Given the description of an element on the screen output the (x, y) to click on. 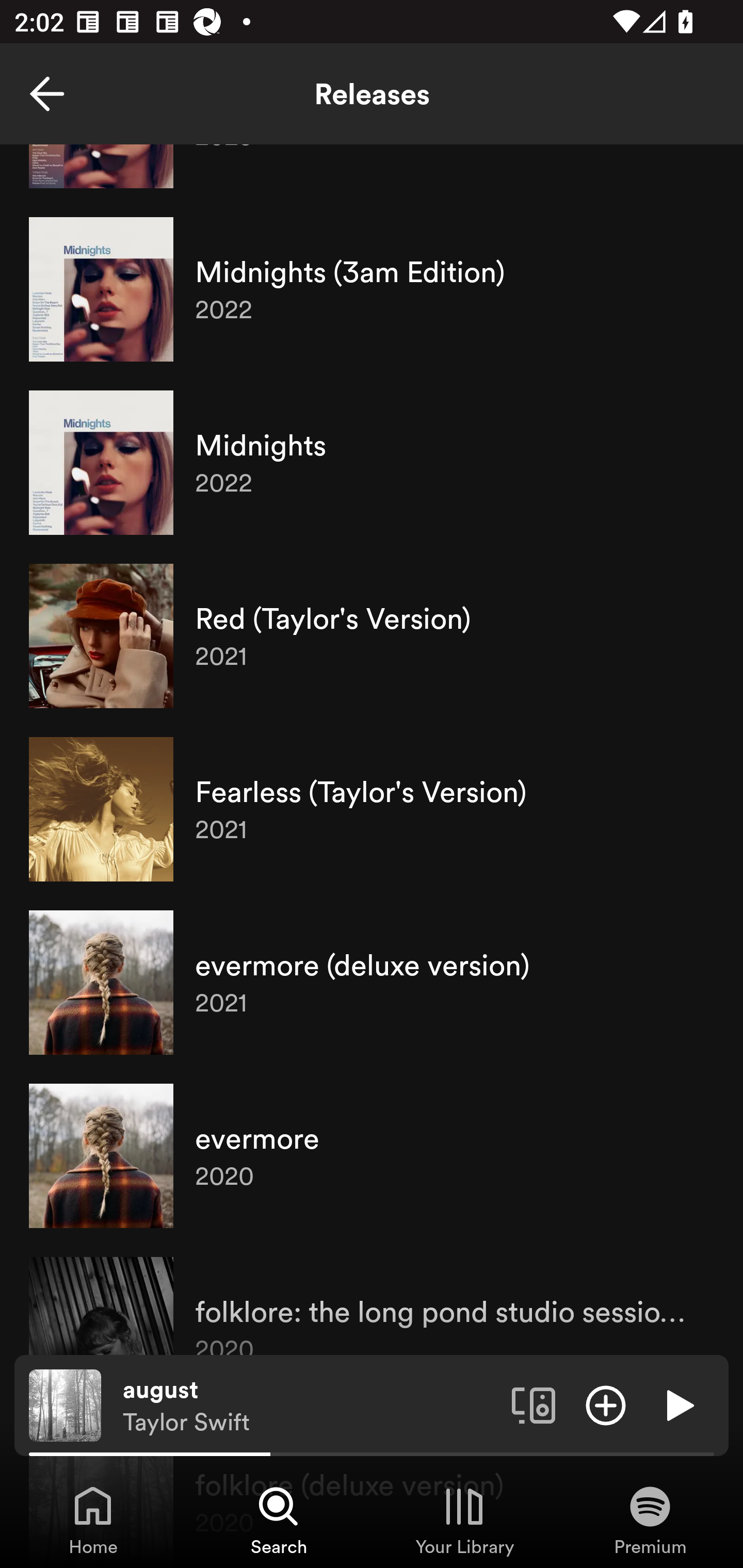
Back (46, 93)
Midnights (3am Edition) 2022 (371, 289)
Midnights 2022 (371, 462)
Red (Taylor's Version) 2021 (371, 635)
Fearless (Taylor's Version) 2021 (371, 808)
evermore (deluxe version) 2021 (371, 982)
evermore 2020 (371, 1155)
august Taylor Swift (309, 1405)
The cover art of the currently playing track (64, 1404)
Connect to a device. Opens the devices menu (533, 1404)
Add item (605, 1404)
Play (677, 1404)
Home, Tab 1 of 4 Home Home (92, 1519)
Search, Tab 2 of 4 Search Search (278, 1519)
Your Library, Tab 3 of 4 Your Library Your Library (464, 1519)
Premium, Tab 4 of 4 Premium Premium (650, 1519)
